Given the description of an element on the screen output the (x, y) to click on. 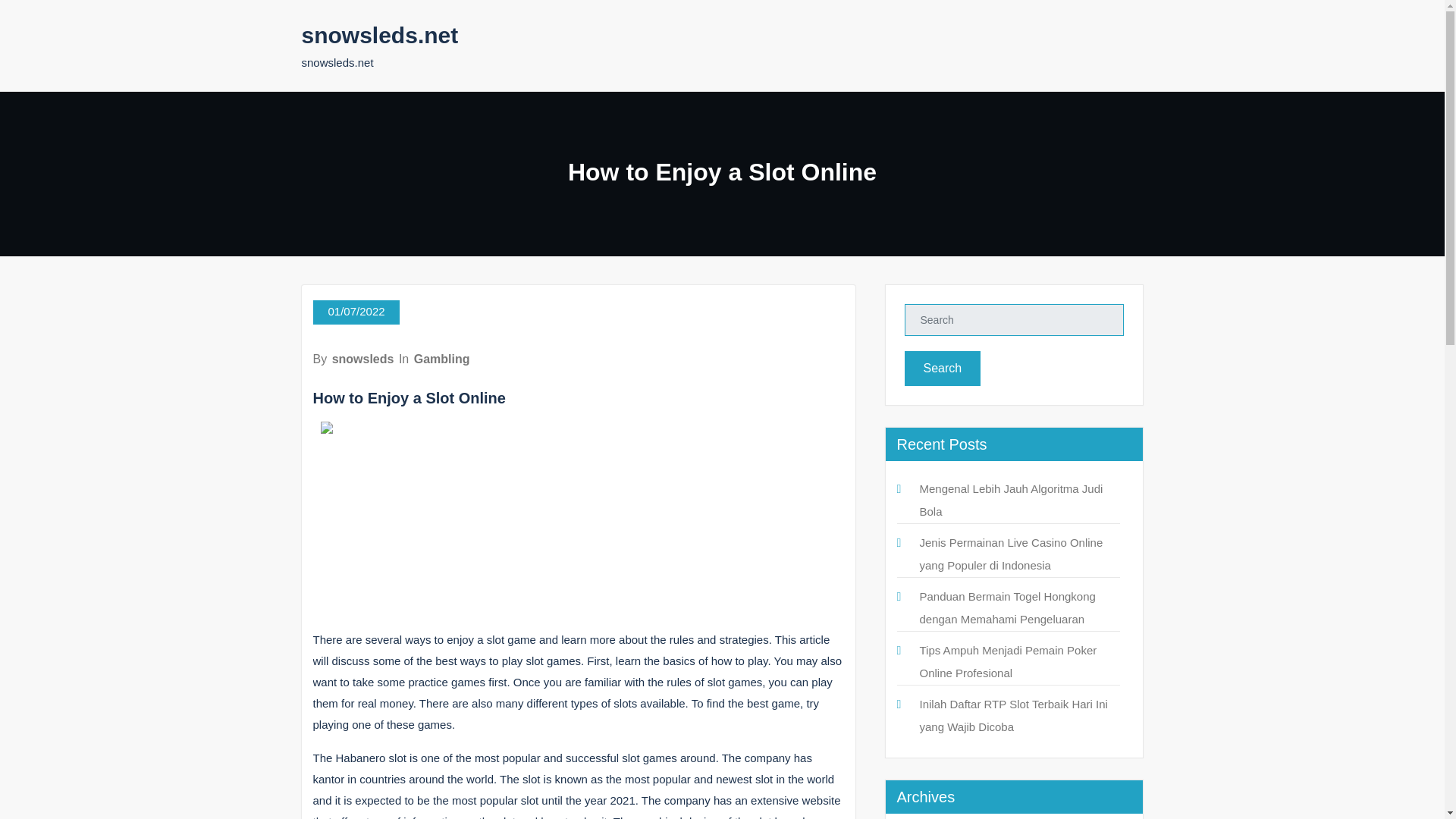
Panduan Bermain Togel Hongkong dengan Memahami Pengeluaran (1006, 607)
Jenis Permainan Live Casino Online yang Populer di Indonesia (1010, 553)
Gambling (441, 358)
Tips Ampuh Menjadi Pemain Poker Online Profesional (1007, 661)
Search (941, 368)
Inilah Daftar RTP Slot Terbaik Hari Ini yang Wajib Dicoba (1012, 715)
snowsleds (363, 358)
snowsleds.net (379, 34)
Mengenal Lebih Jauh Algoritma Judi Bola (1010, 499)
